Given the description of an element on the screen output the (x, y) to click on. 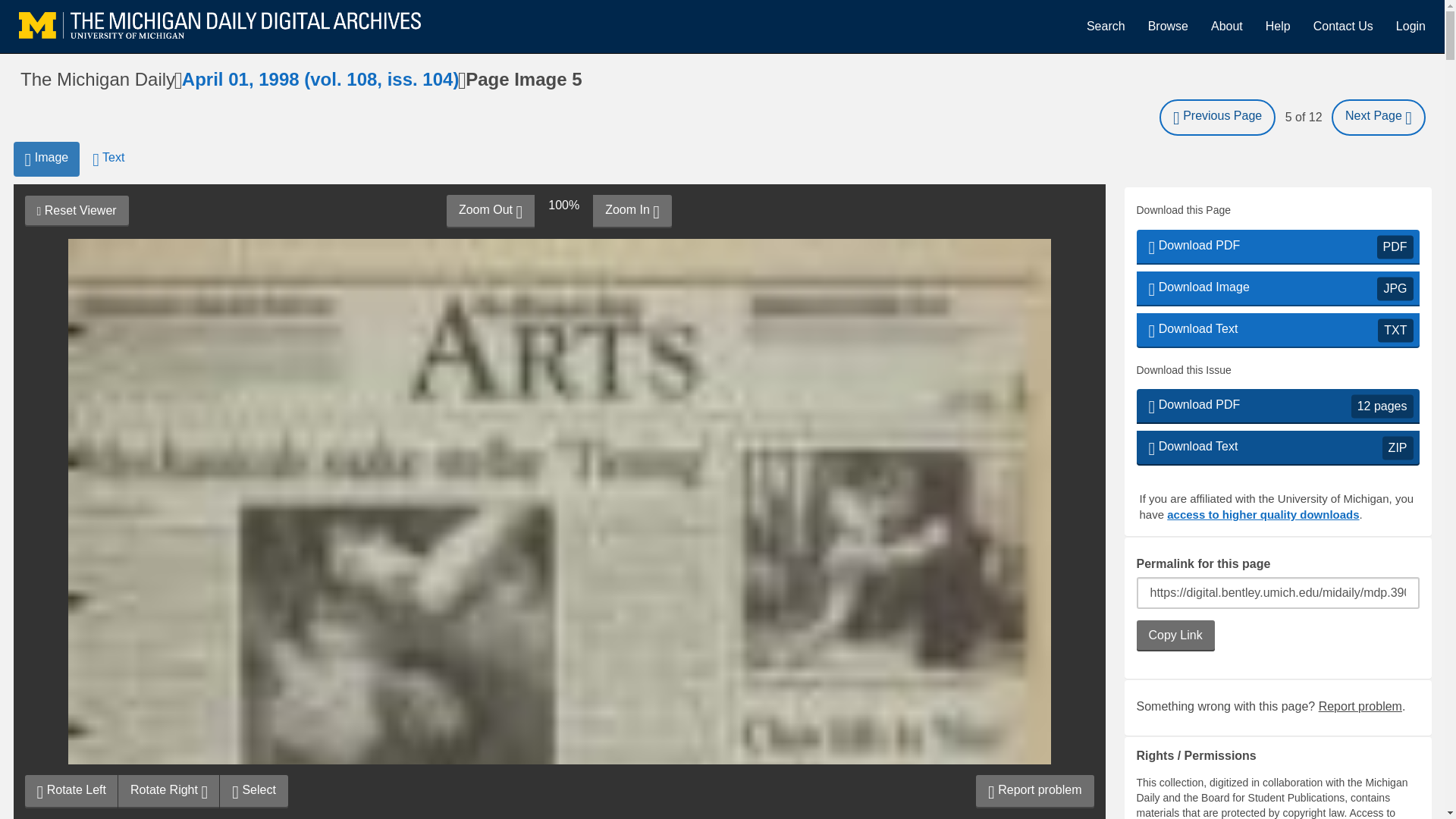
Previous Page (1216, 117)
Reset Viewer (76, 210)
Text (108, 158)
About (1226, 26)
Browse (1168, 26)
Copy Link (1174, 635)
Image (1276, 247)
Contact Us (253, 791)
Report problem (46, 158)
Zoom In (1342, 26)
Rotate Left (1360, 706)
Search (631, 211)
